Given the description of an element on the screen output the (x, y) to click on. 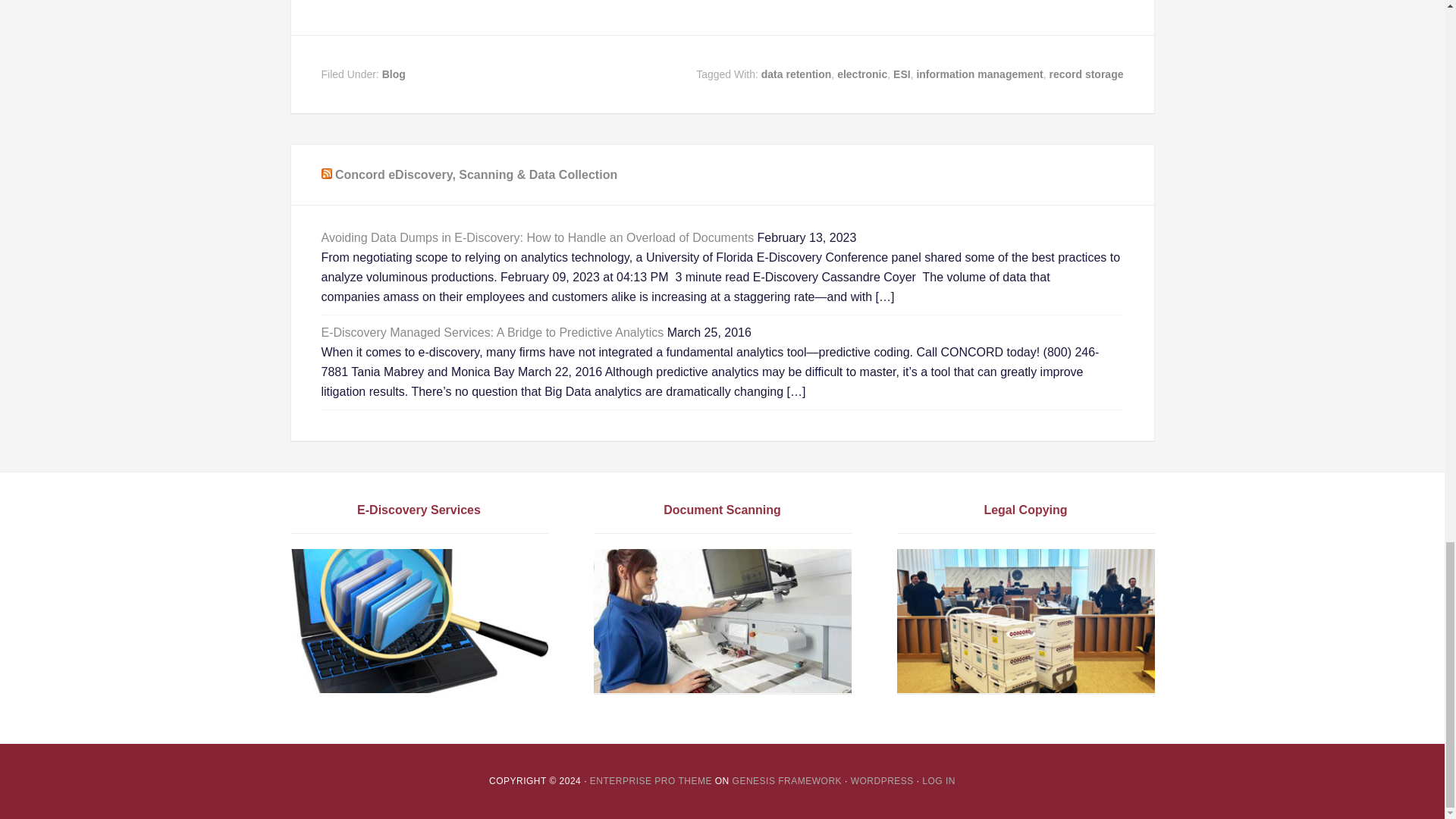
electronic (861, 73)
ESI (902, 73)
information management (978, 73)
Blog (393, 73)
data retention (796, 73)
record storage (1085, 73)
